Given the description of an element on the screen output the (x, y) to click on. 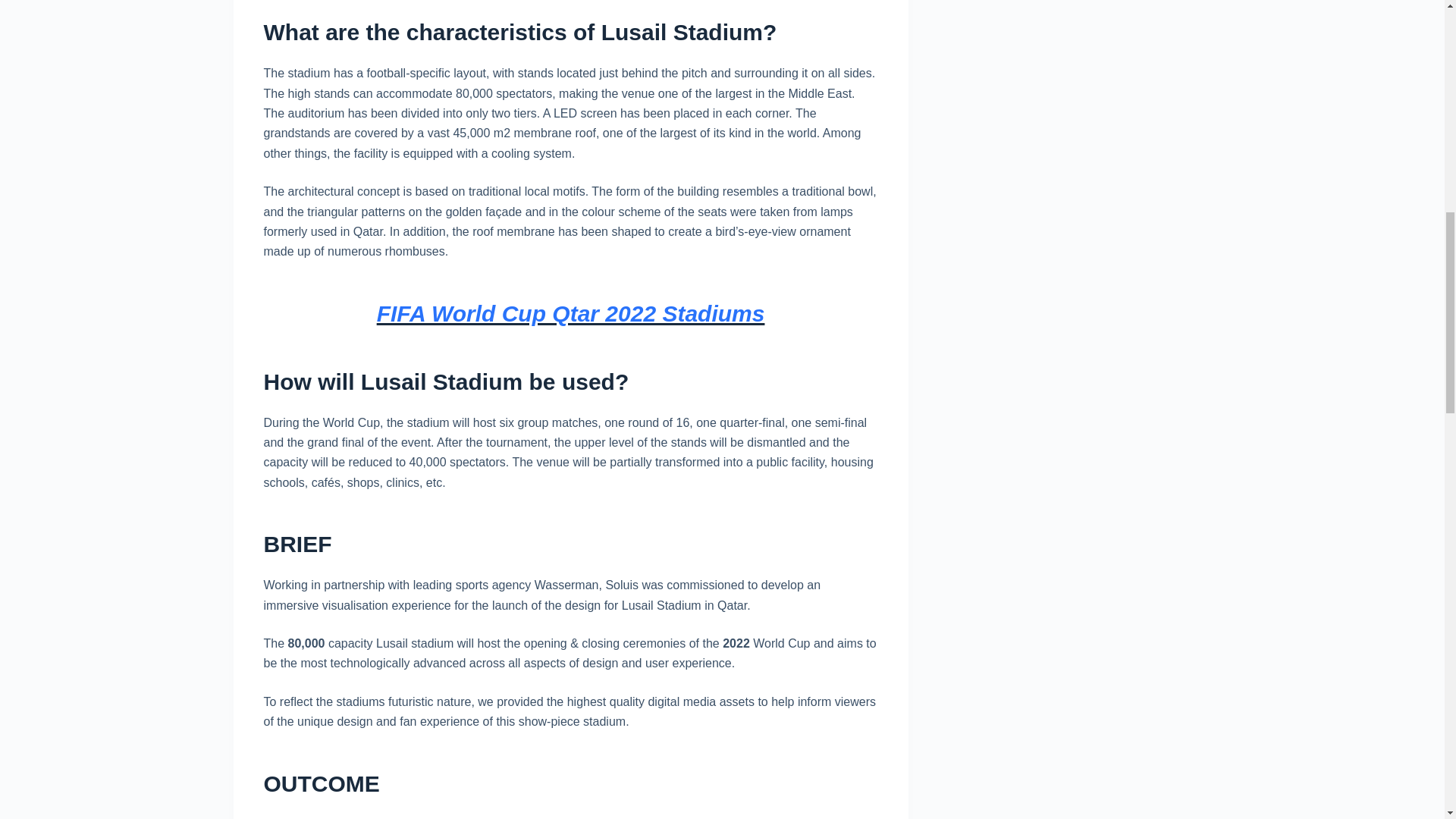
FIFA World Cup Qtar 2022 Stadiums (571, 313)
